Given the description of an element on the screen output the (x, y) to click on. 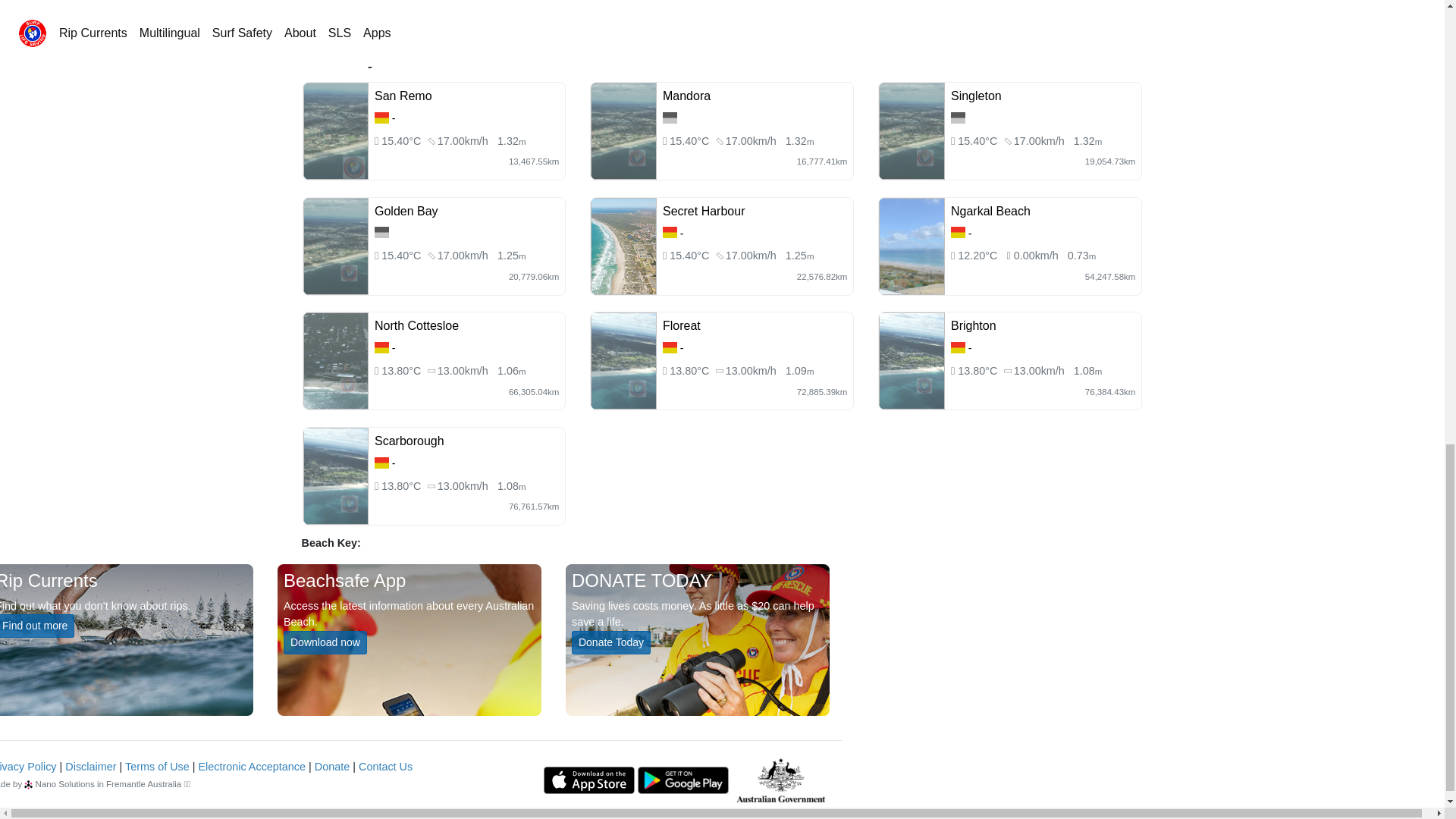
Sunny. (401, 255)
Wind Speed (1039, 141)
Swell (511, 255)
Sunny. (689, 141)
Wind Speed (750, 141)
Contact Us (385, 766)
Donate (331, 766)
Donate Today (611, 642)
Privacy Policy (28, 766)
Find out more (37, 626)
Sunny. (689, 255)
Swell (799, 141)
Swell (1088, 141)
Wind Speed (462, 141)
Sunny. (978, 141)
